Given the description of an element on the screen output the (x, y) to click on. 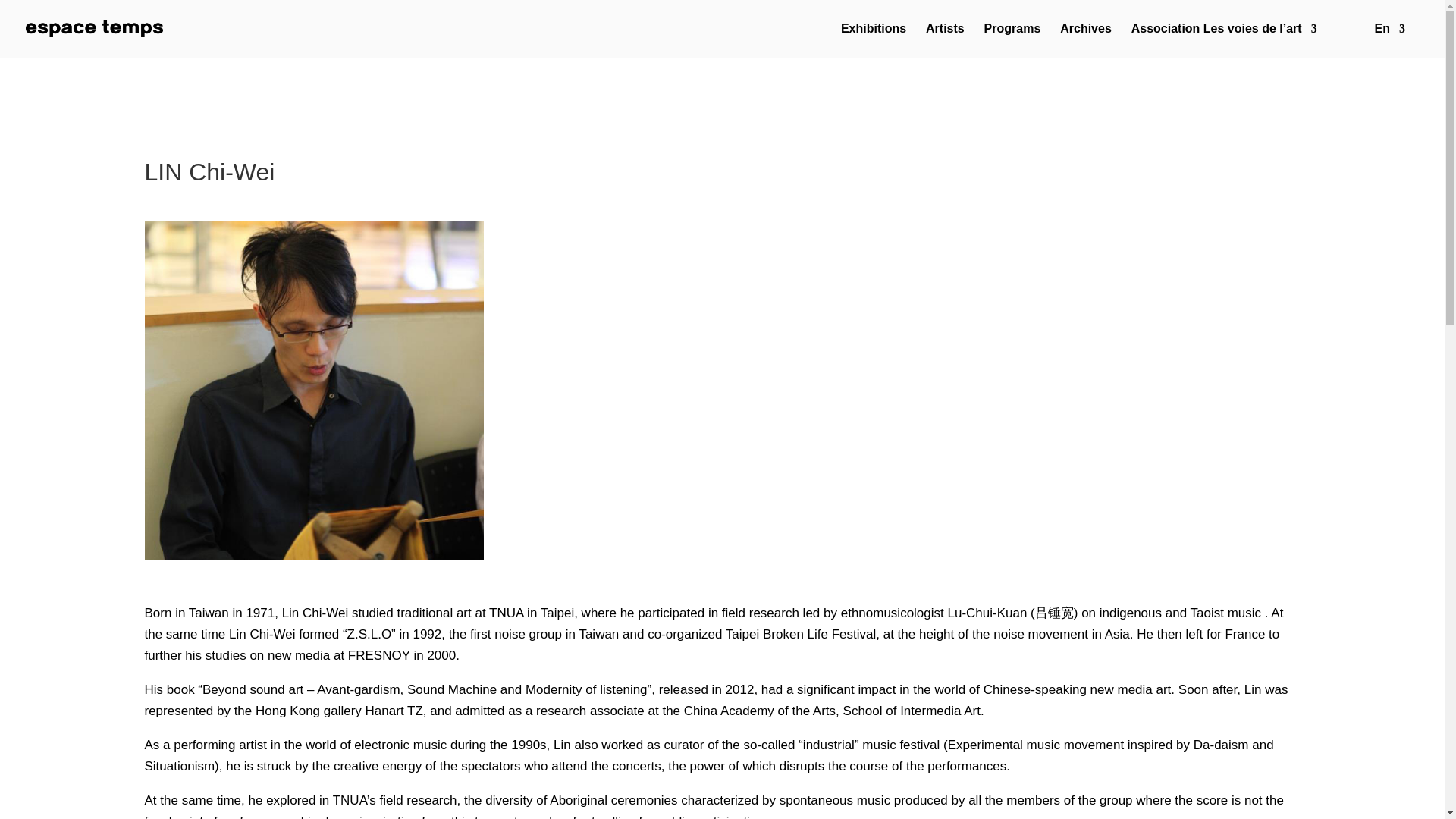
Programs (1012, 40)
Artists (944, 40)
Exhibitions (873, 40)
Archives (1085, 40)
